Given the description of an element on the screen output the (x, y) to click on. 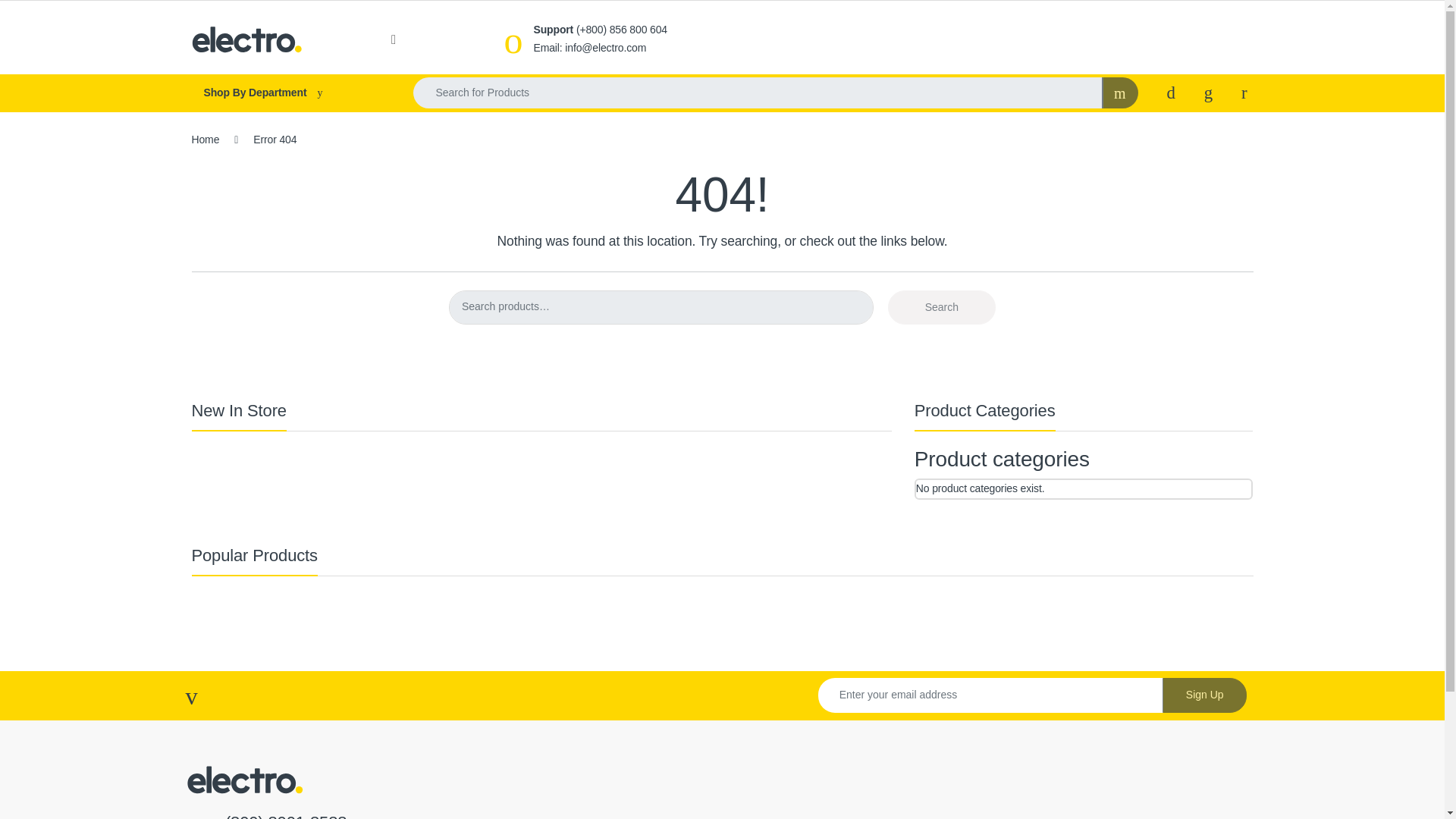
Home (204, 139)
Shop By Department (287, 93)
Sign Up (1204, 695)
Search (941, 307)
